Given the description of an element on the screen output the (x, y) to click on. 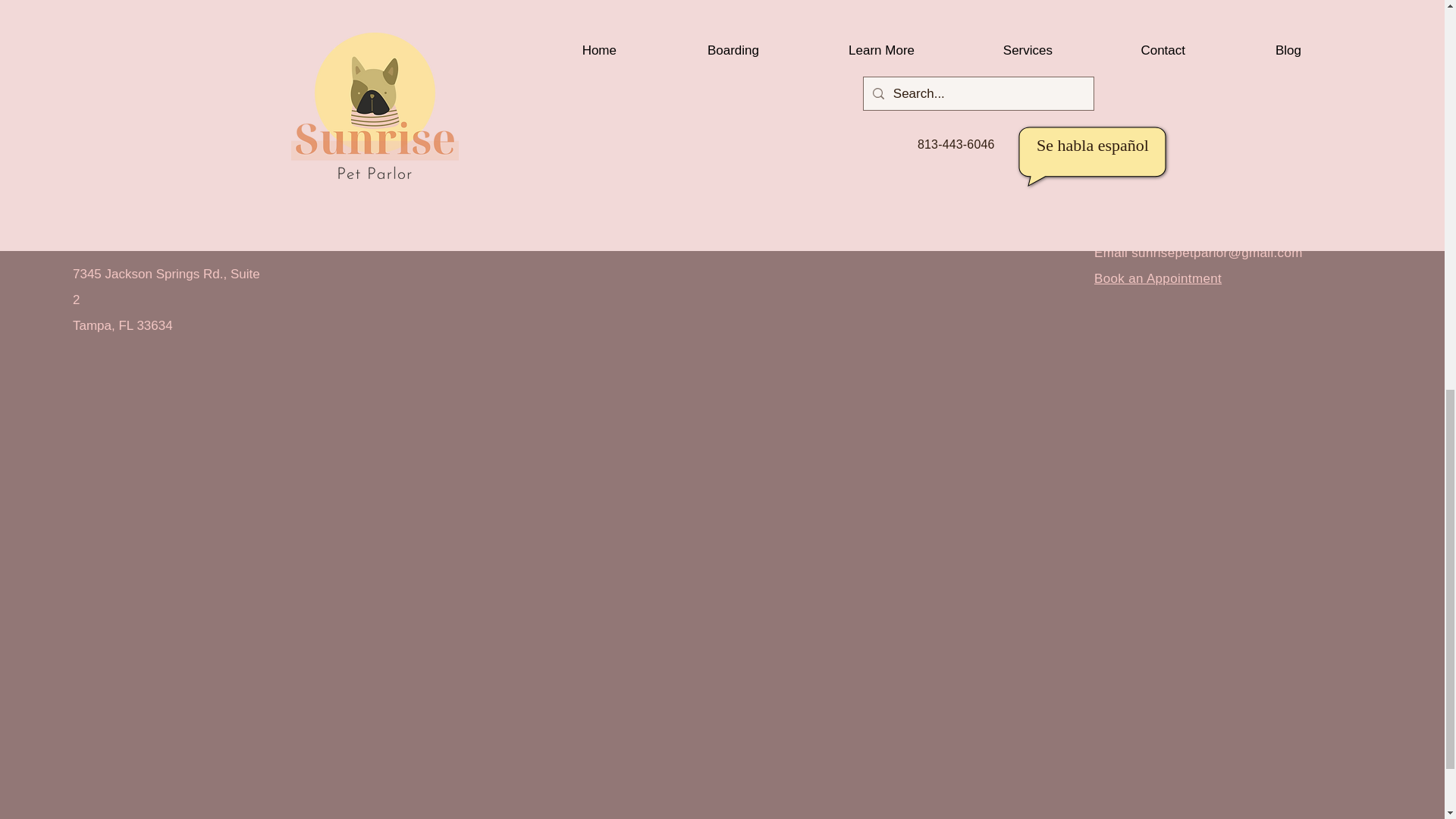
Book an Appointment (1157, 278)
Book Here (355, 19)
